Given the description of an element on the screen output the (x, y) to click on. 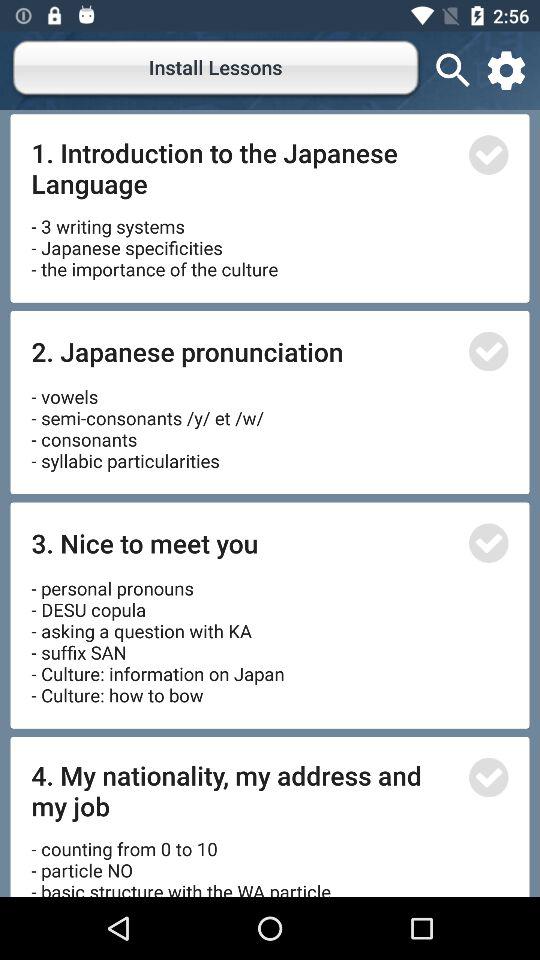
click the vowels semi consonants icon (150, 422)
